Given the description of an element on the screen output the (x, y) to click on. 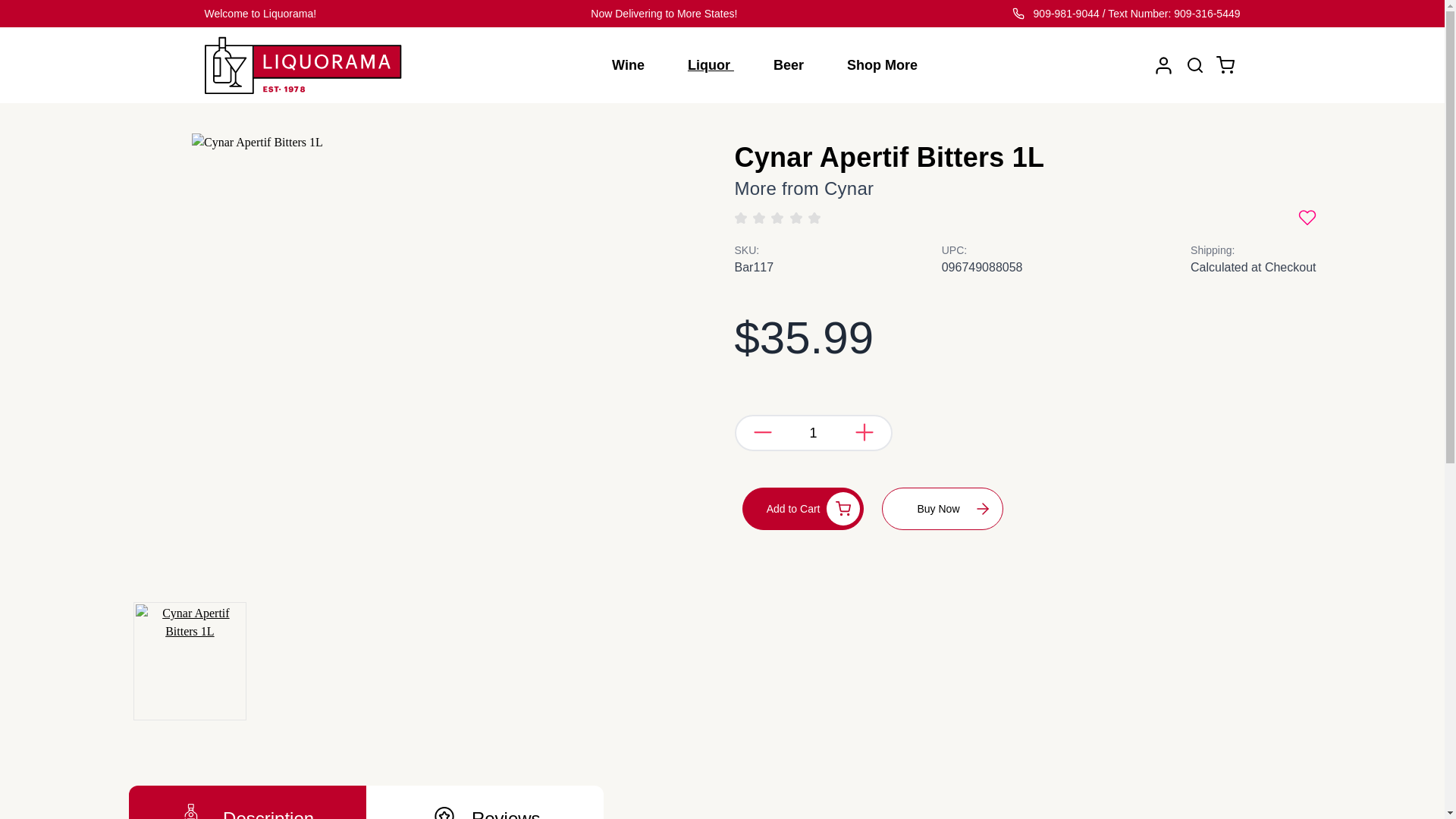
1 (813, 432)
Liquorama (303, 65)
Cynar Apertif Bitters 1L (189, 661)
Wine (637, 64)
